Given the description of an element on the screen output the (x, y) to click on. 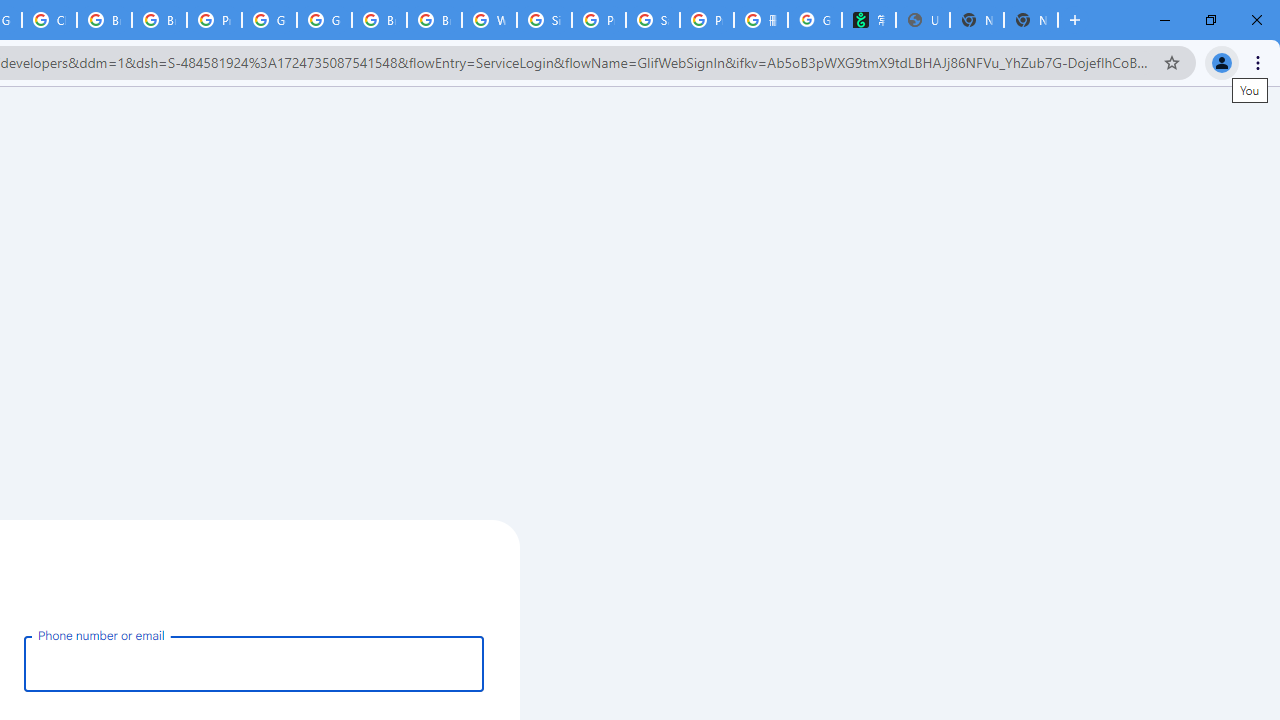
Browse Chrome as a guest - Computer - Google Chrome Help (379, 20)
Browse Chrome as a guest - Computer - Google Chrome Help (434, 20)
Minimize (1165, 20)
Sign in - Google Accounts (544, 20)
Browse Chrome as a guest - Computer - Google Chrome Help (158, 20)
Browse Chrome as a guest - Computer - Google Chrome Help (103, 20)
Close (1256, 20)
New Tab (1075, 20)
Untitled (922, 20)
Restore (1210, 20)
